Given the description of an element on the screen output the (x, y) to click on. 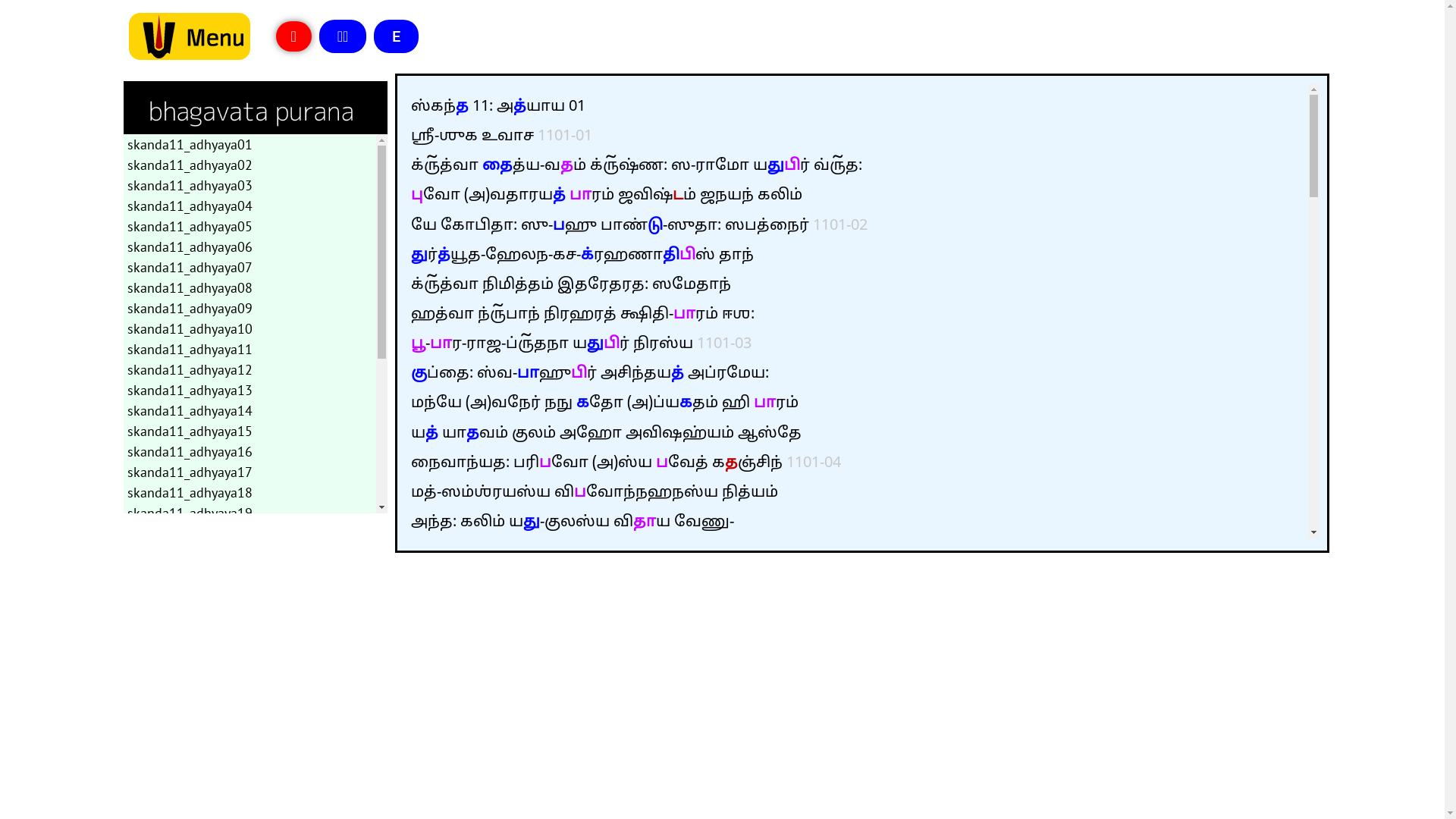
Menu_20200623 Element type: hover (189, 35)
E Element type: text (395, 36)
